Given the description of an element on the screen output the (x, y) to click on. 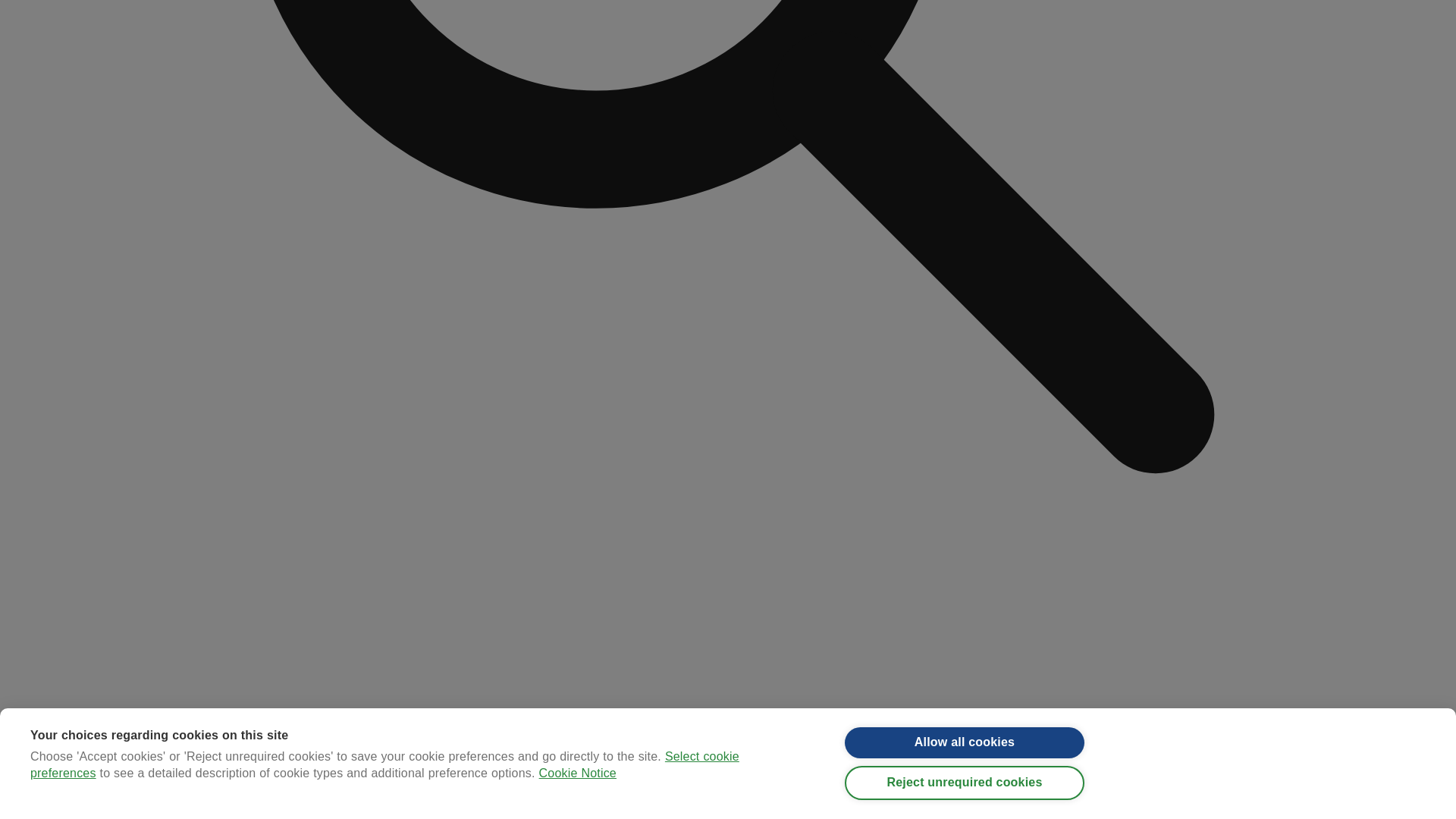
Reject unrequired cookies (964, 1)
